Given the description of an element on the screen output the (x, y) to click on. 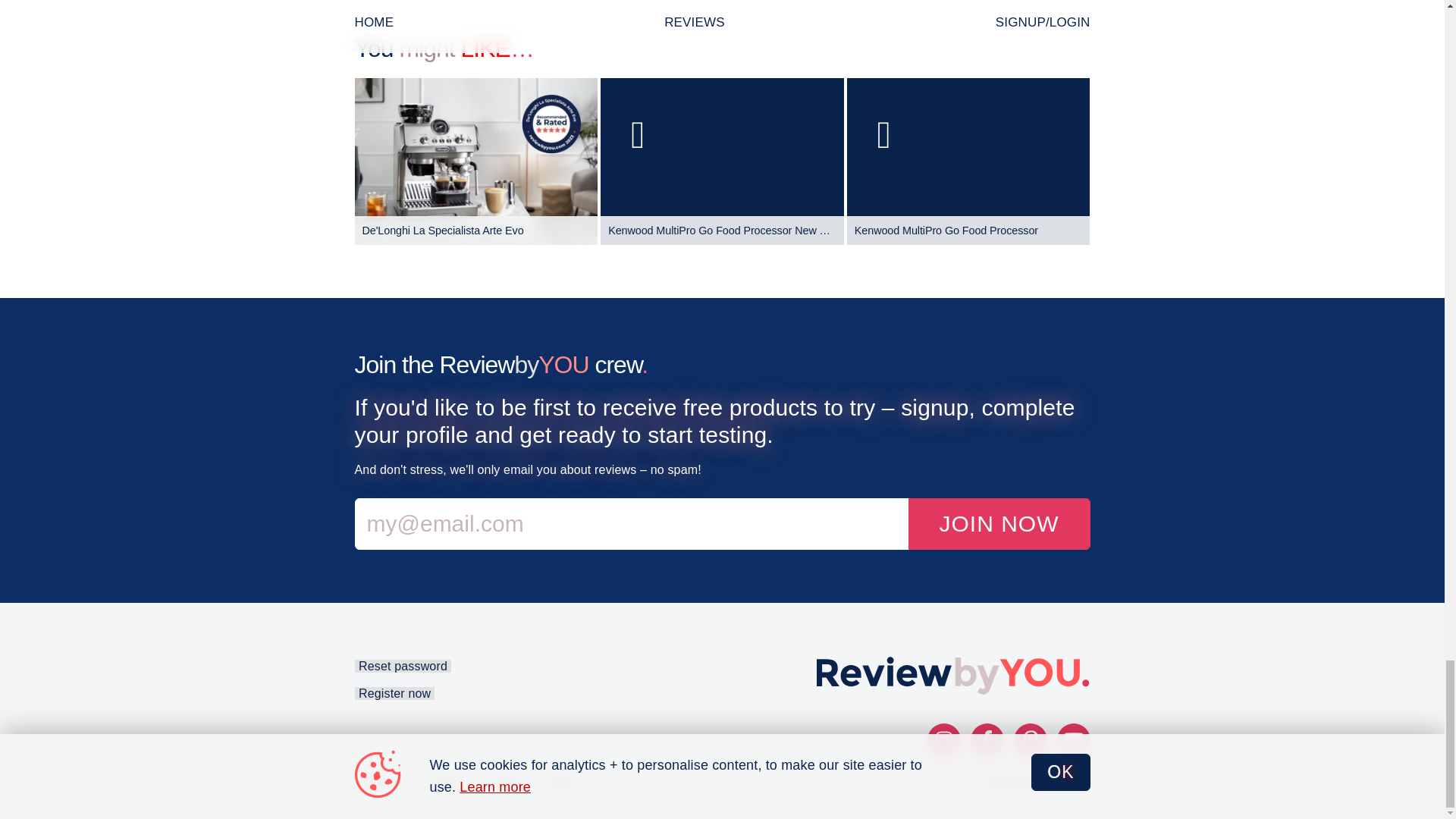
Like ReviewbyYOU on Facebook (987, 738)
Reset password (402, 666)
Follow ReviewbyYOU on Instagram (942, 738)
ReviewbyYOU on Pinterest (1029, 738)
Your email address (632, 524)
Kenwood MultiPro Go Food Processor (968, 161)
JOIN NOW (999, 524)
De'Longhi La Specialista Arte Evo (476, 161)
Register now (393, 692)
Kenwood MultiPro Go Food Processor New Zealand Review (721, 161)
ReviewbyYOU YouTube Channel (1073, 738)
